Given the description of an element on the screen output the (x, y) to click on. 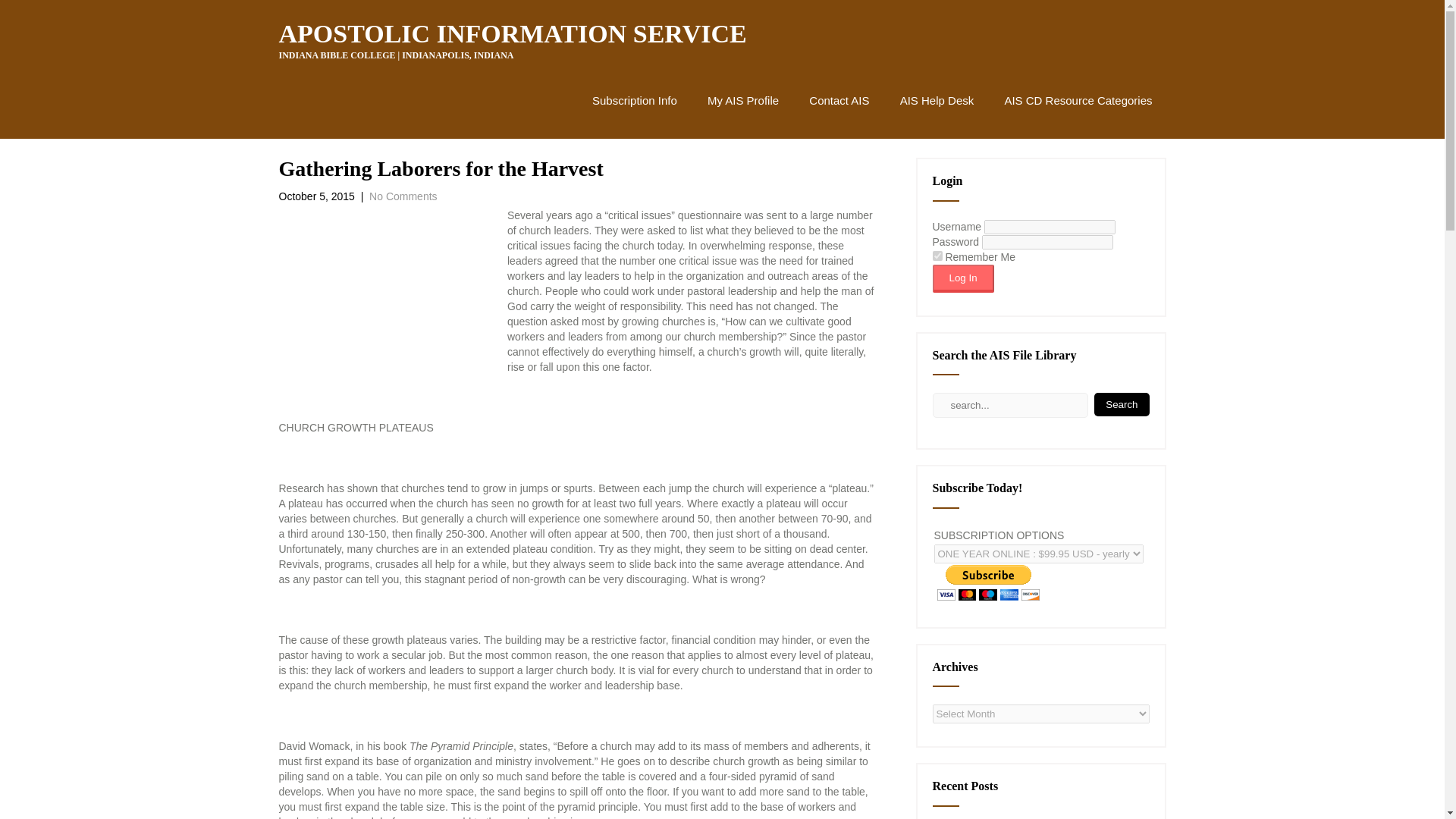
Search (1121, 404)
No Comments (402, 196)
My AIS Profile (743, 100)
Search (1121, 404)
Log In (963, 278)
forever (937, 255)
AIS CD Resource Categories (1078, 100)
Subscription Info (634, 100)
Log In (963, 278)
Contact AIS (838, 100)
